Given the description of an element on the screen output the (x, y) to click on. 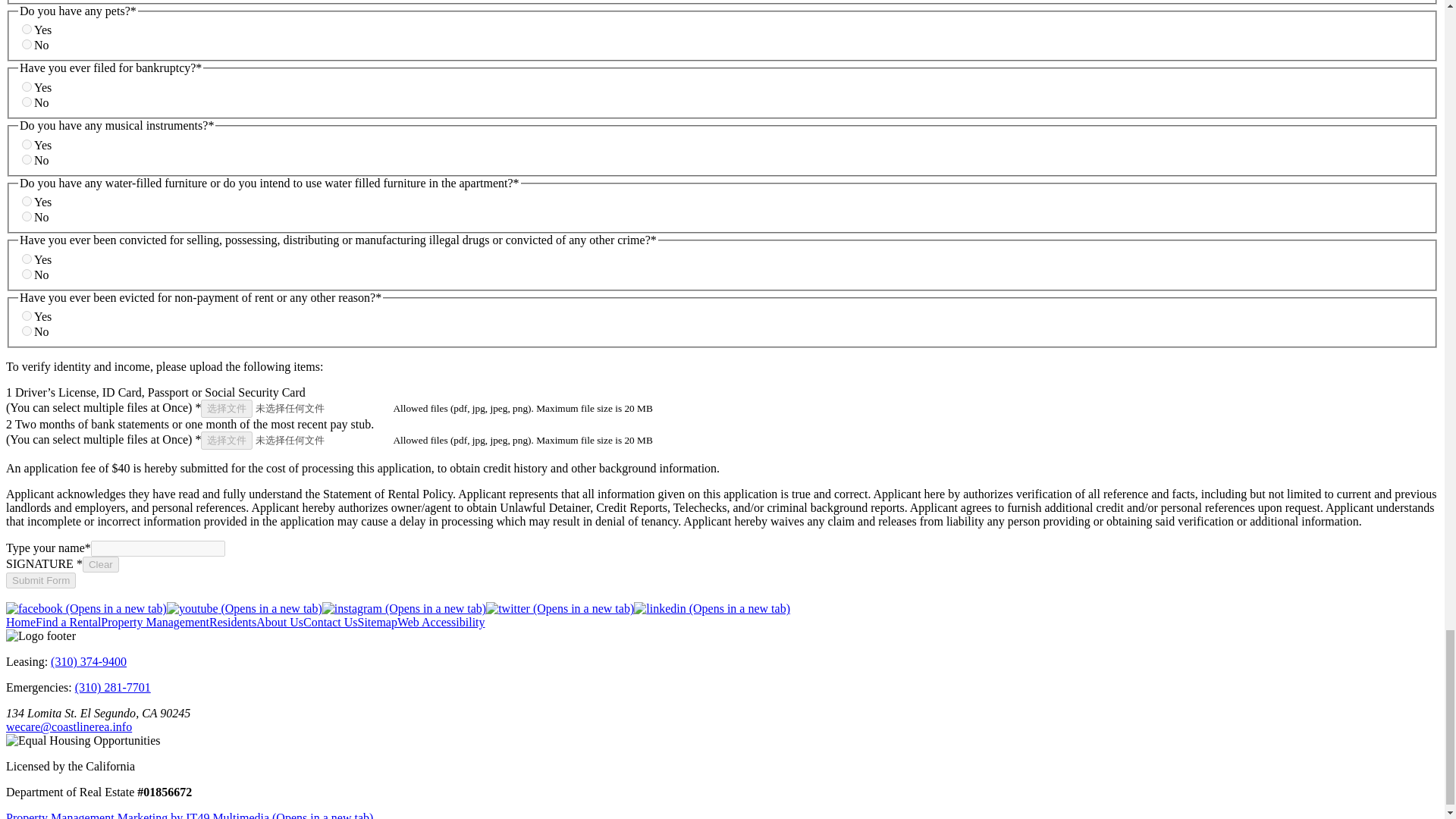
Web Accessibility (440, 621)
Property Management (154, 621)
Contact Us (330, 621)
Sitemap (377, 621)
Clear (100, 564)
About Us (279, 621)
Submit Form (40, 580)
Residents (232, 621)
Find a Rental (67, 621)
Home (19, 621)
